Given the description of an element on the screen output the (x, y) to click on. 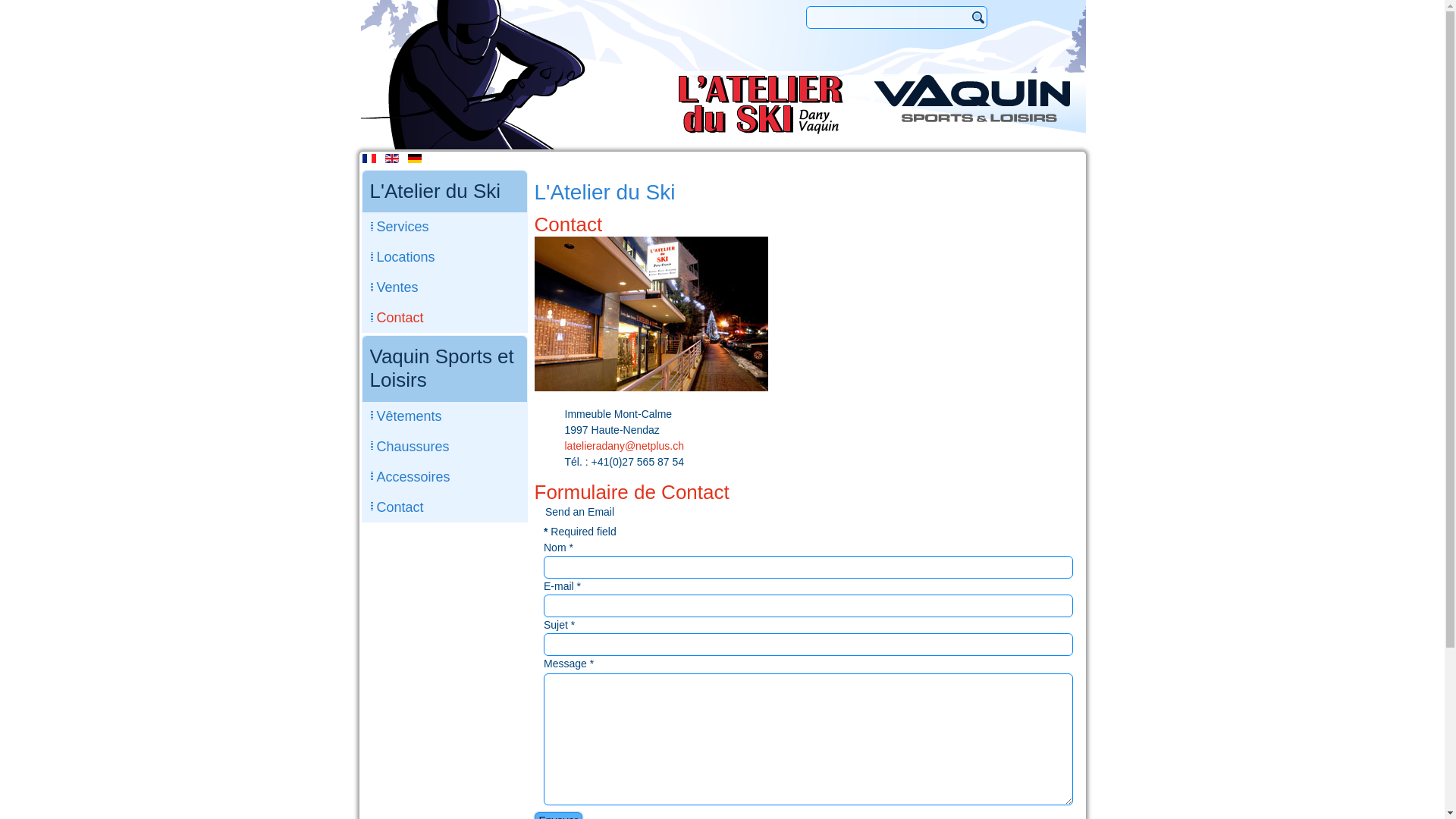
Accessoires Element type: text (443, 476)
Chaussures Element type: text (443, 446)
Atelier du Ski Element type: hover (760, 104)
Locations Element type: text (443, 256)
Contact Element type: text (443, 317)
Services Element type: text (443, 226)
Vaquin Sports et Loisirs Element type: hover (971, 98)
Ventes Element type: text (443, 287)
latelieradany@netplus.ch Element type: text (623, 445)
English Element type: hover (391, 158)
Deutsch Element type: hover (414, 158)
Contact Element type: text (443, 506)
